Given the description of an element on the screen output the (x, y) to click on. 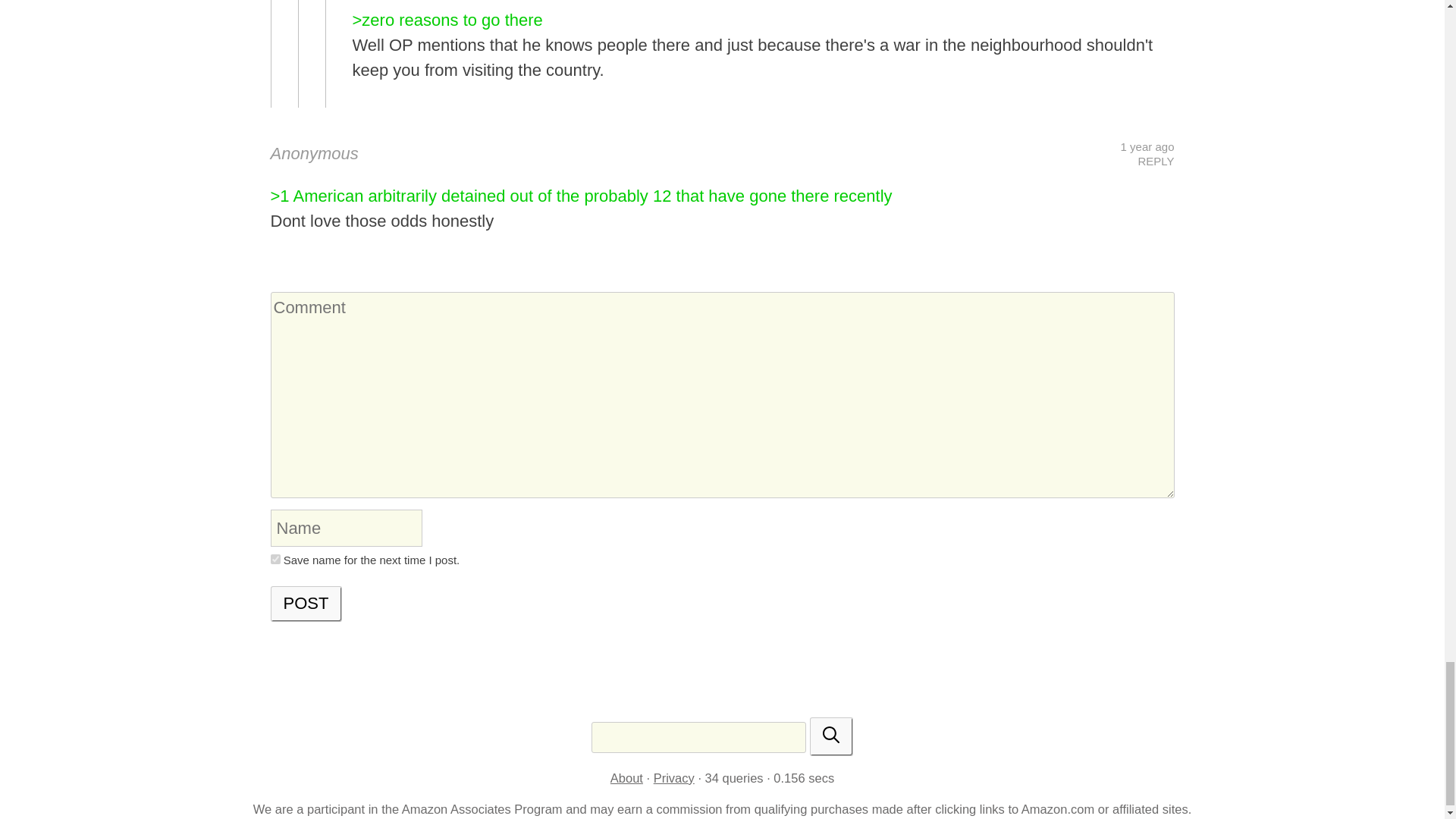
yes (274, 559)
Search for: (698, 736)
Post (305, 603)
About (626, 777)
Post (305, 603)
Privacy (673, 777)
REPLY (1155, 160)
